Given the description of an element on the screen output the (x, y) to click on. 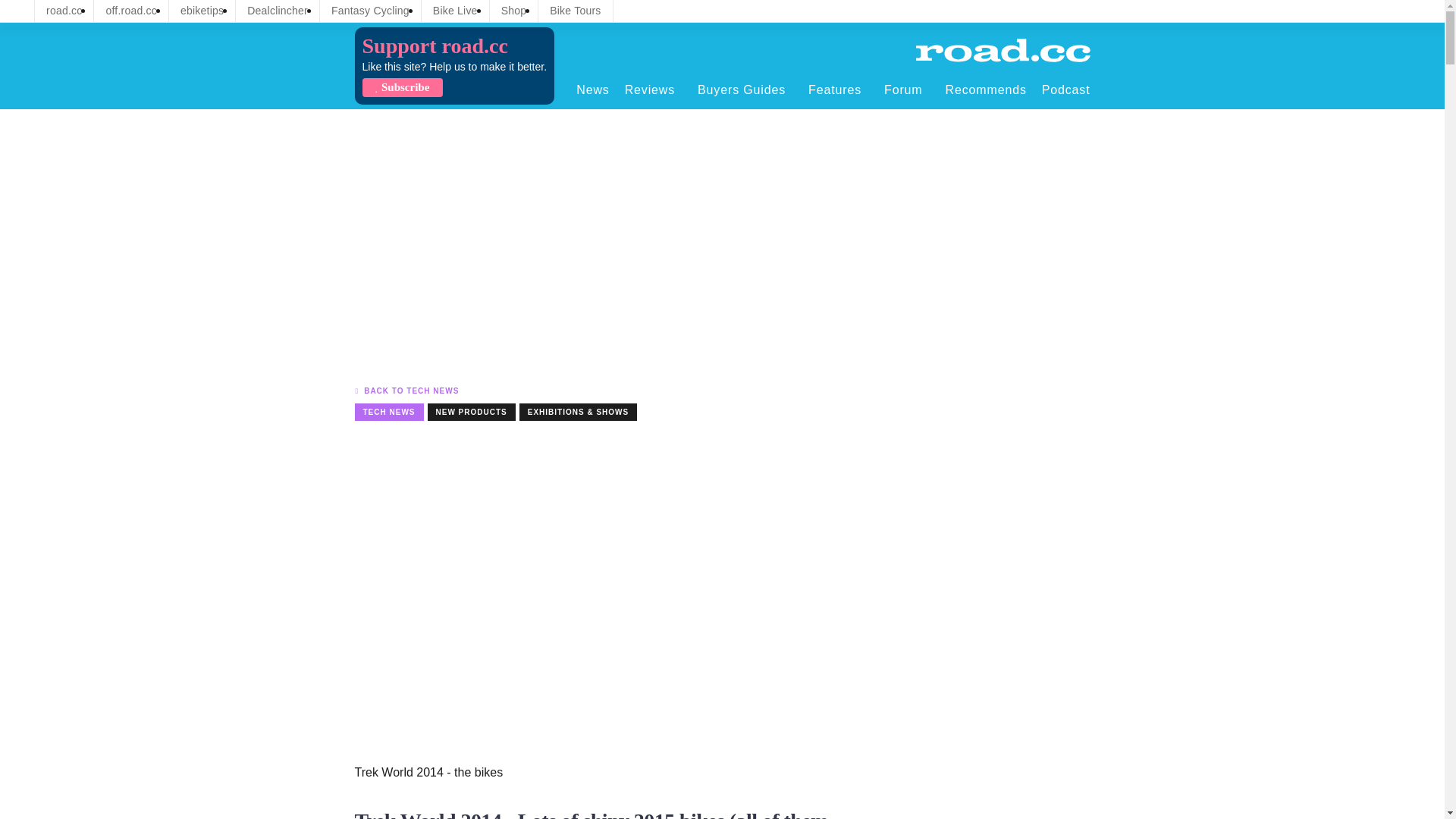
Dealclincher (276, 11)
road.cc (63, 11)
Shop (513, 11)
Bike Live (455, 11)
off.road.cc (131, 11)
Reviews (653, 89)
ebiketips (201, 11)
Bike Tours (574, 11)
Subscribe (402, 87)
Home (1002, 50)
